Given the description of an element on the screen output the (x, y) to click on. 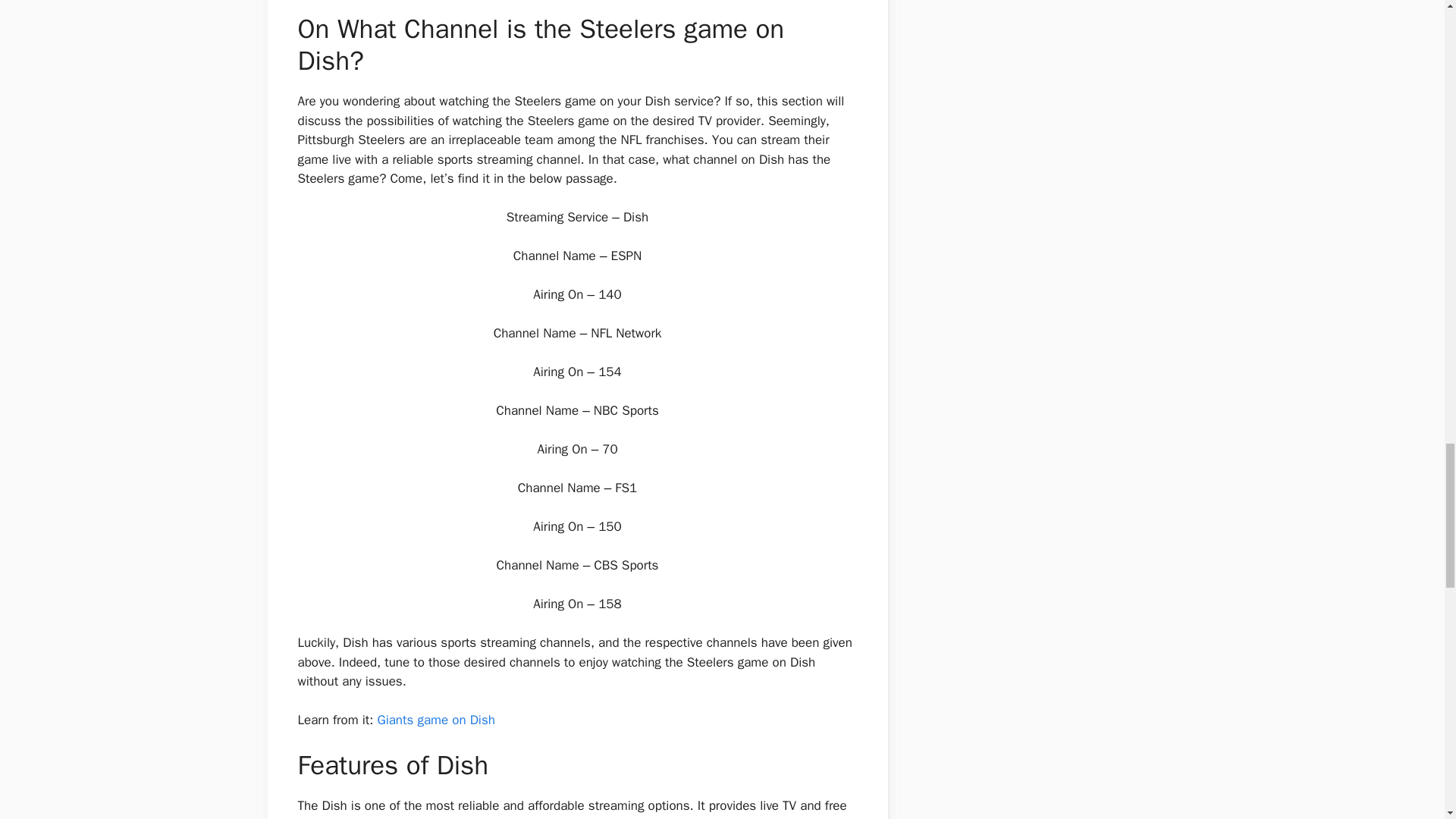
Giants game on Dish (436, 719)
